Given the description of an element on the screen output the (x, y) to click on. 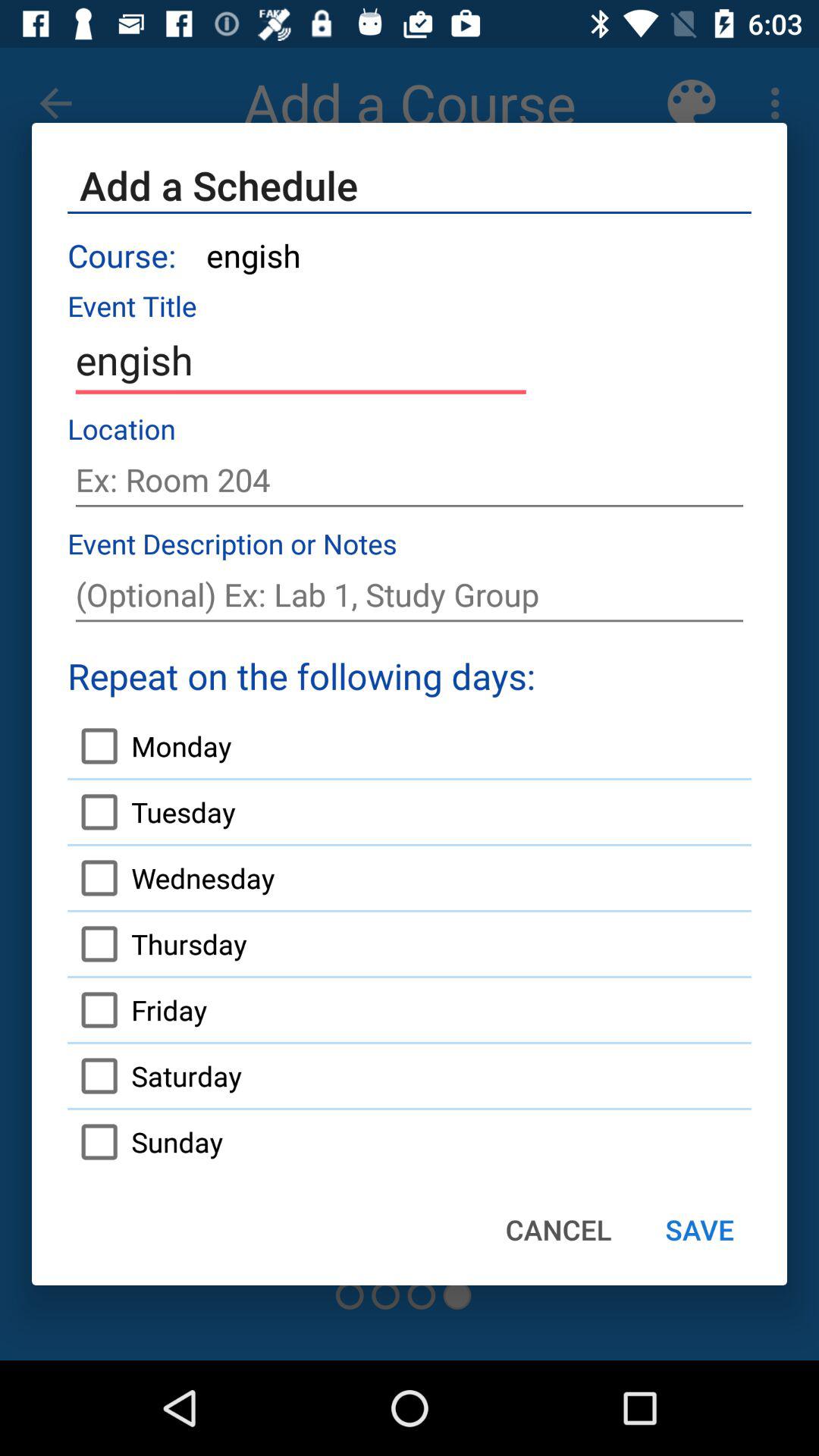
text box to add schedule location (409, 479)
